Given the description of an element on the screen output the (x, y) to click on. 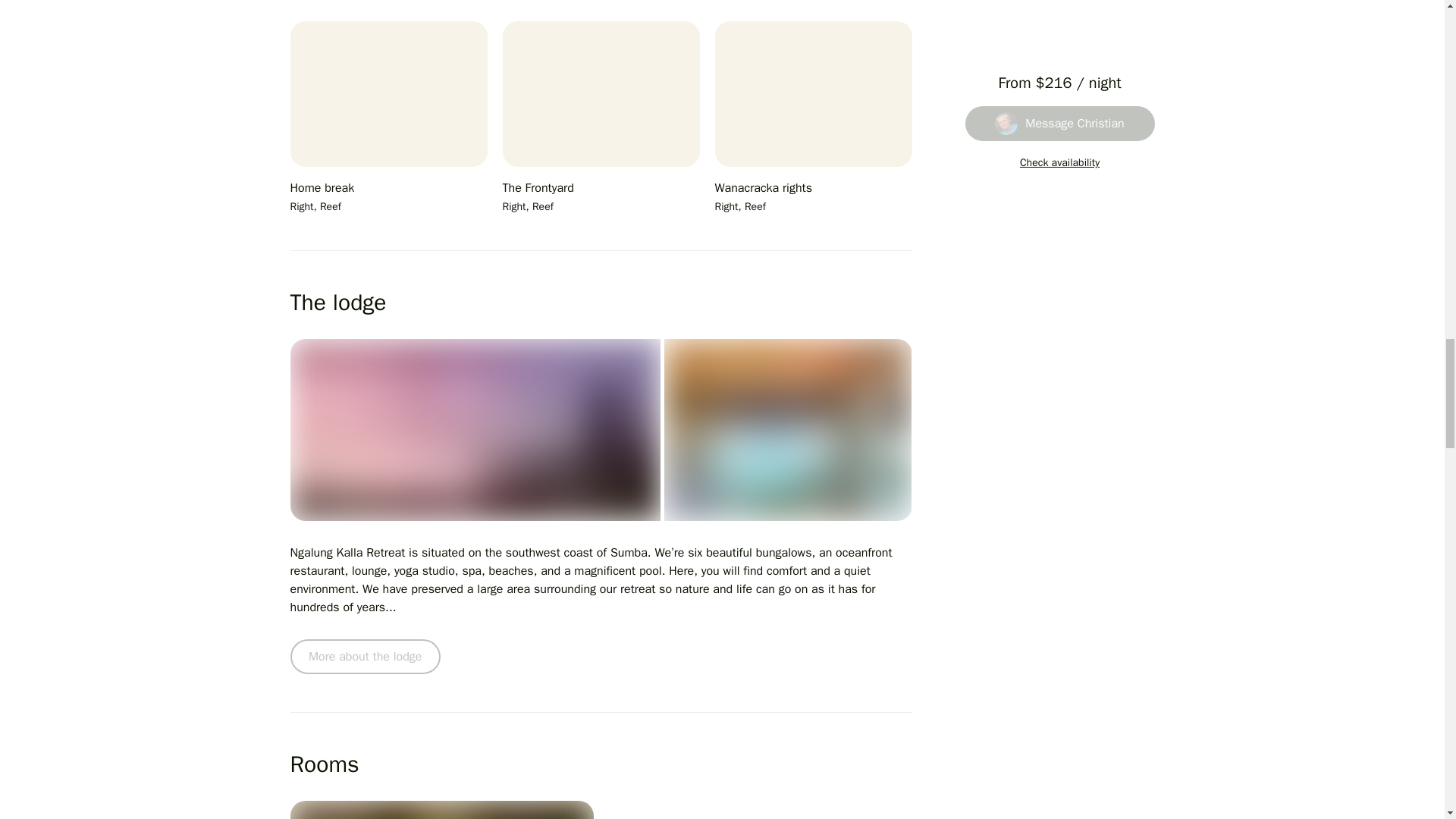
More about the lodge (364, 656)
